Given the description of an element on the screen output the (x, y) to click on. 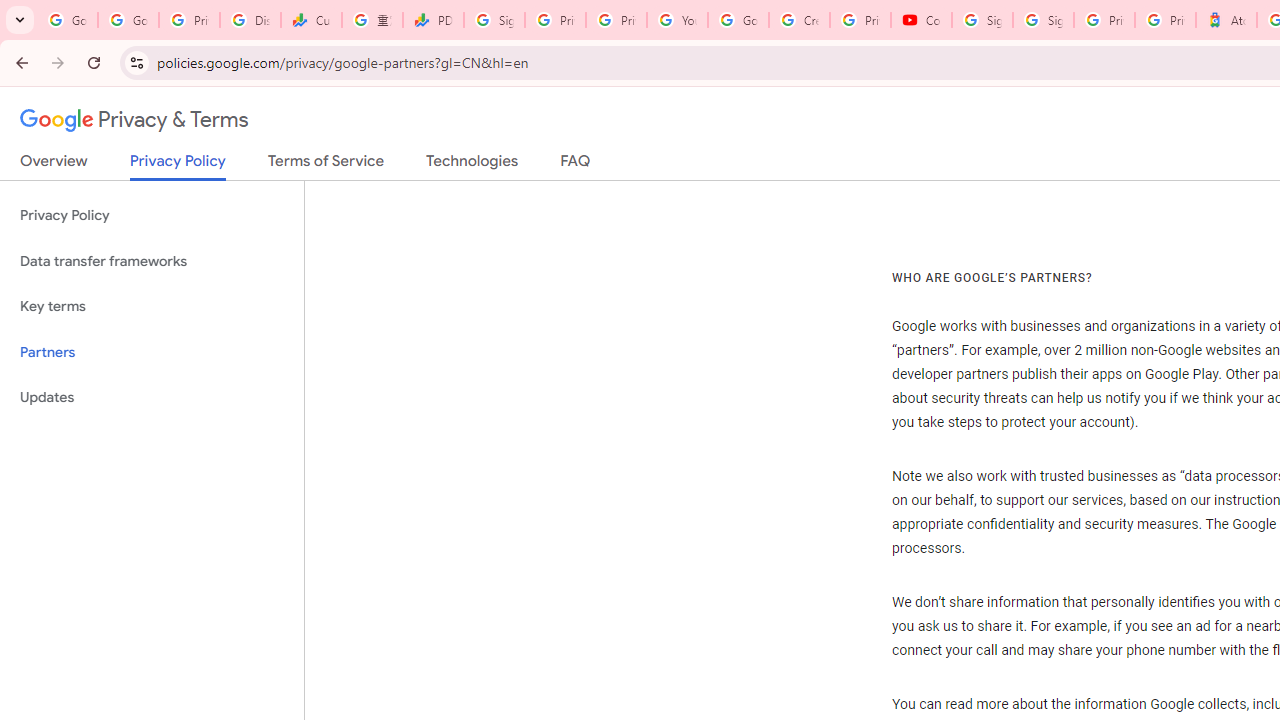
Privacy Checkup (616, 20)
Sign in - Google Accounts (1042, 20)
Terms of Service (326, 165)
Sign in - Google Accounts (493, 20)
FAQ (575, 165)
Content Creator Programs & Opportunities - YouTube Creators (921, 20)
Google Account Help (738, 20)
